Given the description of an element on the screen output the (x, y) to click on. 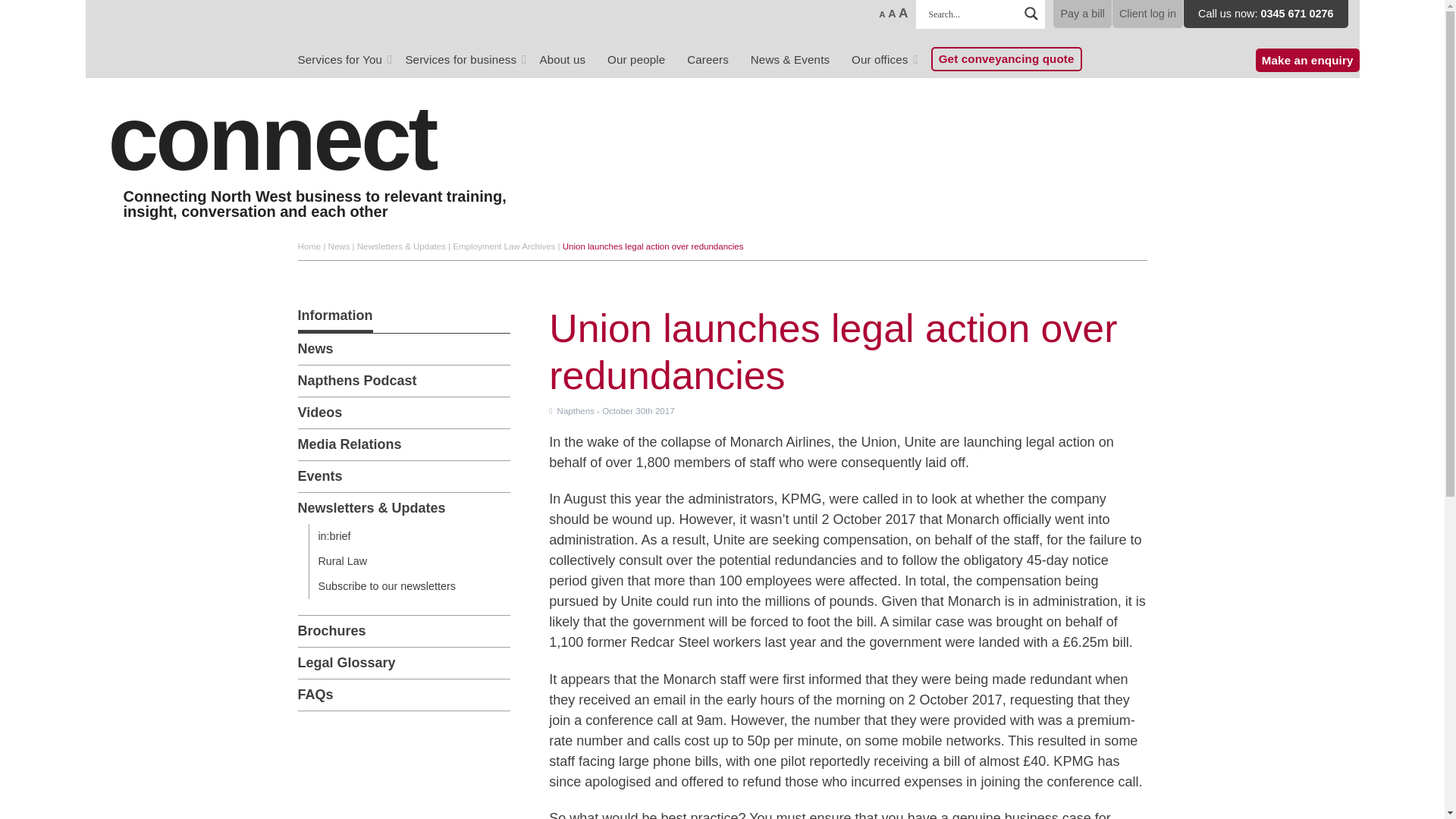
0345 671 0276 (1296, 13)
Pay a bill (1081, 13)
Napthens Solicitors (278, 30)
Services for You (345, 61)
Services for business (464, 61)
Client log in (1147, 13)
